Given the description of an element on the screen output the (x, y) to click on. 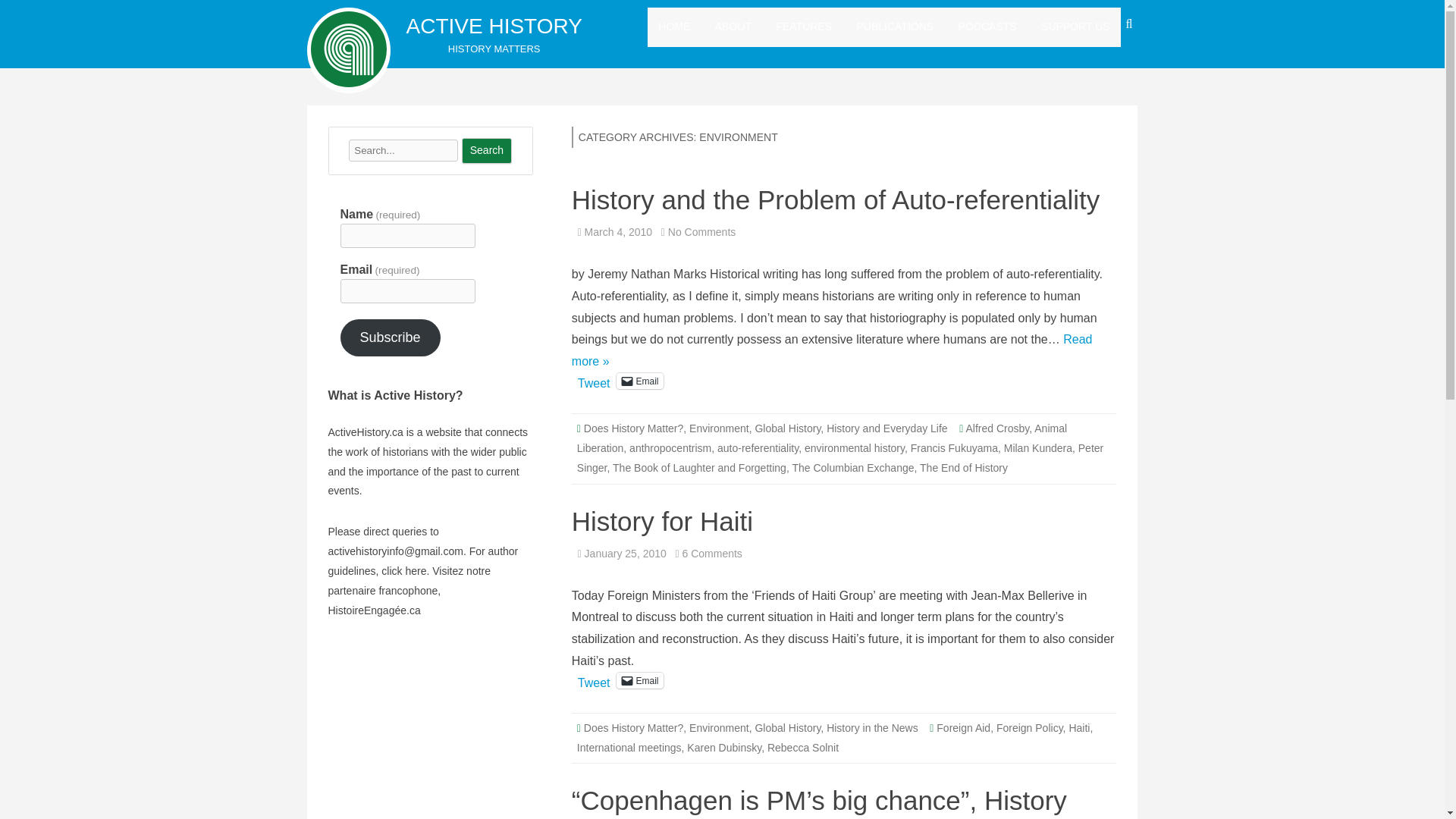
PUBLICATIONS (895, 26)
Search (486, 150)
anthropocentrism (669, 448)
Email (638, 381)
auto-referentiality (757, 448)
Peter Singer (839, 458)
History and the Problem of Auto-referentiality (835, 199)
Click to email a link to a friend (638, 381)
The Book of Laughter and Forgetting (699, 467)
